Given the description of an element on the screen output the (x, y) to click on. 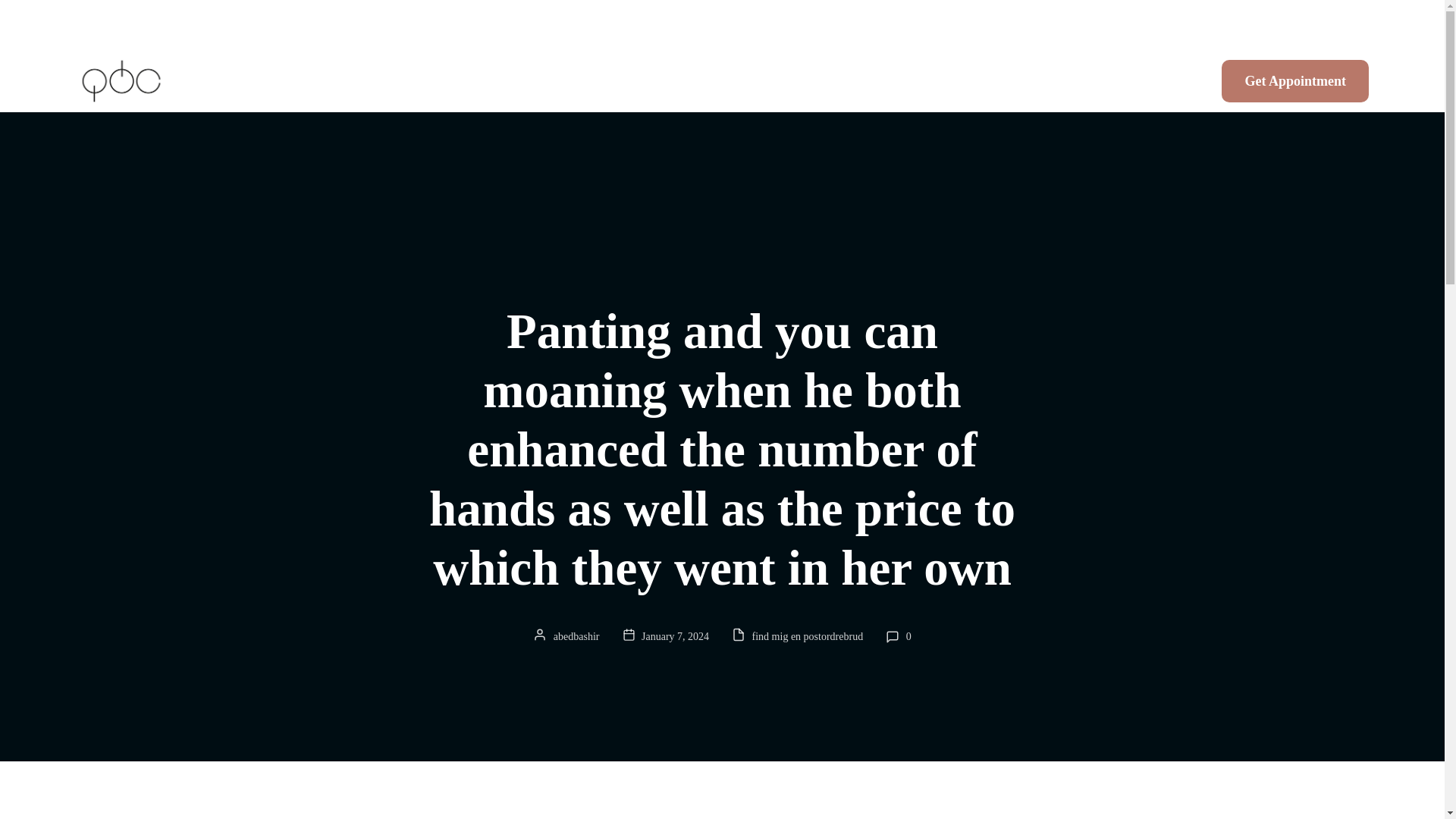
About Us (898, 82)
Contact (1142, 82)
Projects (1064, 82)
Home (820, 82)
Services (983, 82)
Get Appointment (1294, 80)
find mig en postordrebrud (807, 636)
